Given the description of an element on the screen output the (x, y) to click on. 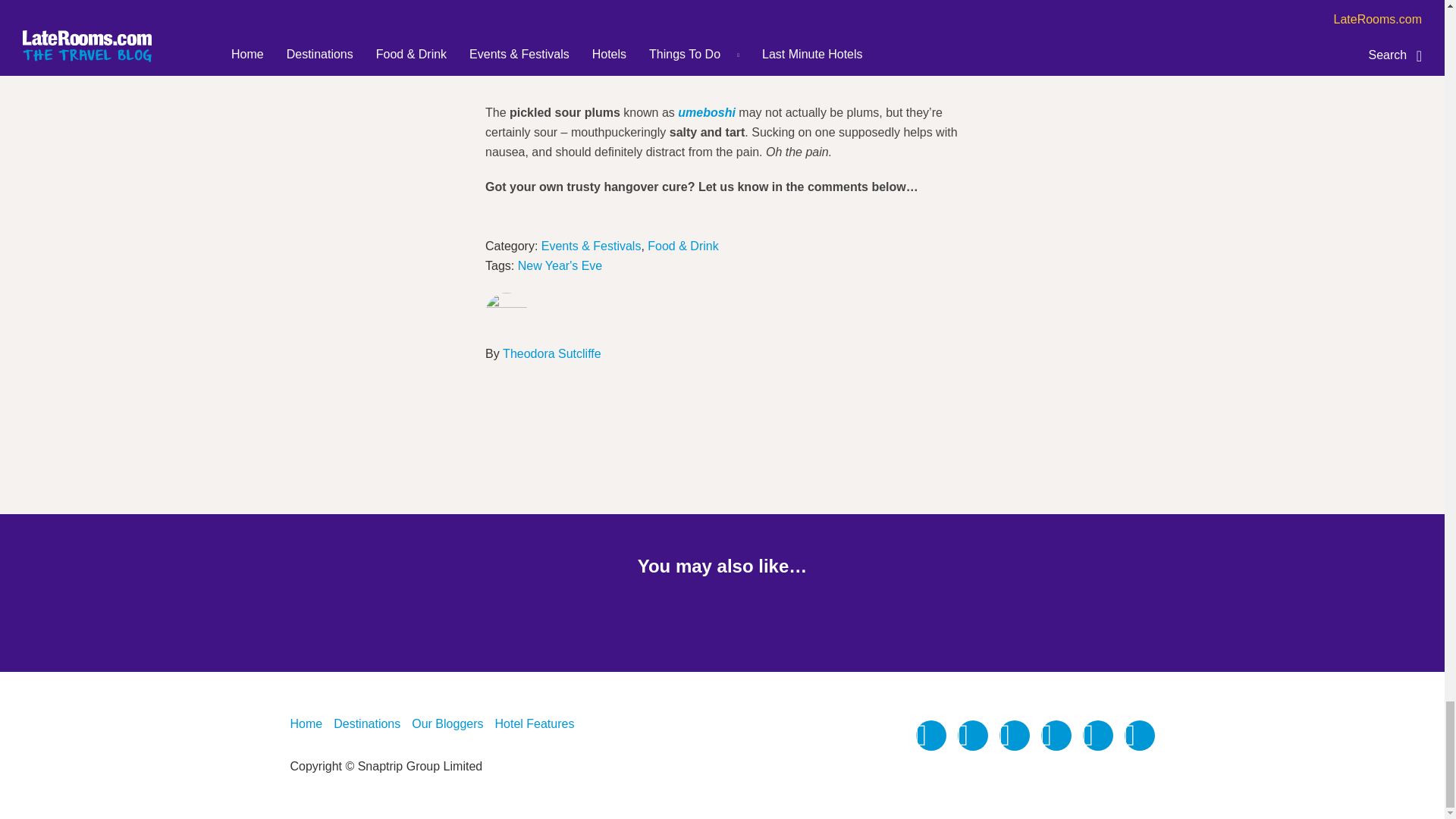
Destinations (366, 723)
New Year's Eve (560, 265)
umeboshi (708, 112)
Our Bloggers (447, 723)
Home (305, 723)
Theodora Sutcliffe (551, 353)
